Given the description of an element on the screen output the (x, y) to click on. 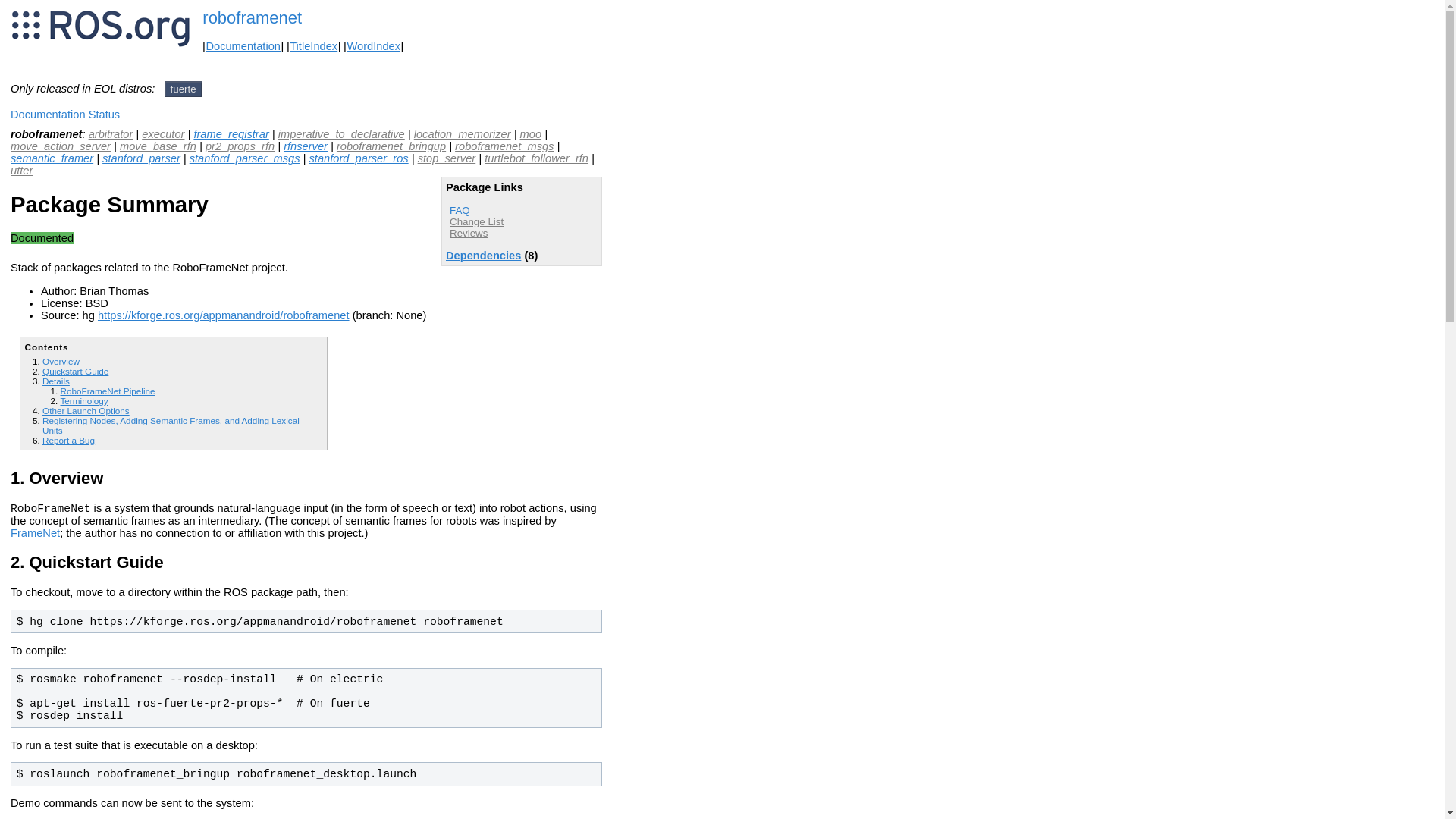
Dependencies (483, 255)
rfnserver (305, 146)
Documentation (243, 46)
TitleIndex (313, 46)
Quickstart Guide (74, 370)
executor (162, 133)
Change List (476, 221)
Documentation Status (64, 114)
Overview (61, 361)
FAQ (459, 210)
